Given the description of an element on the screen output the (x, y) to click on. 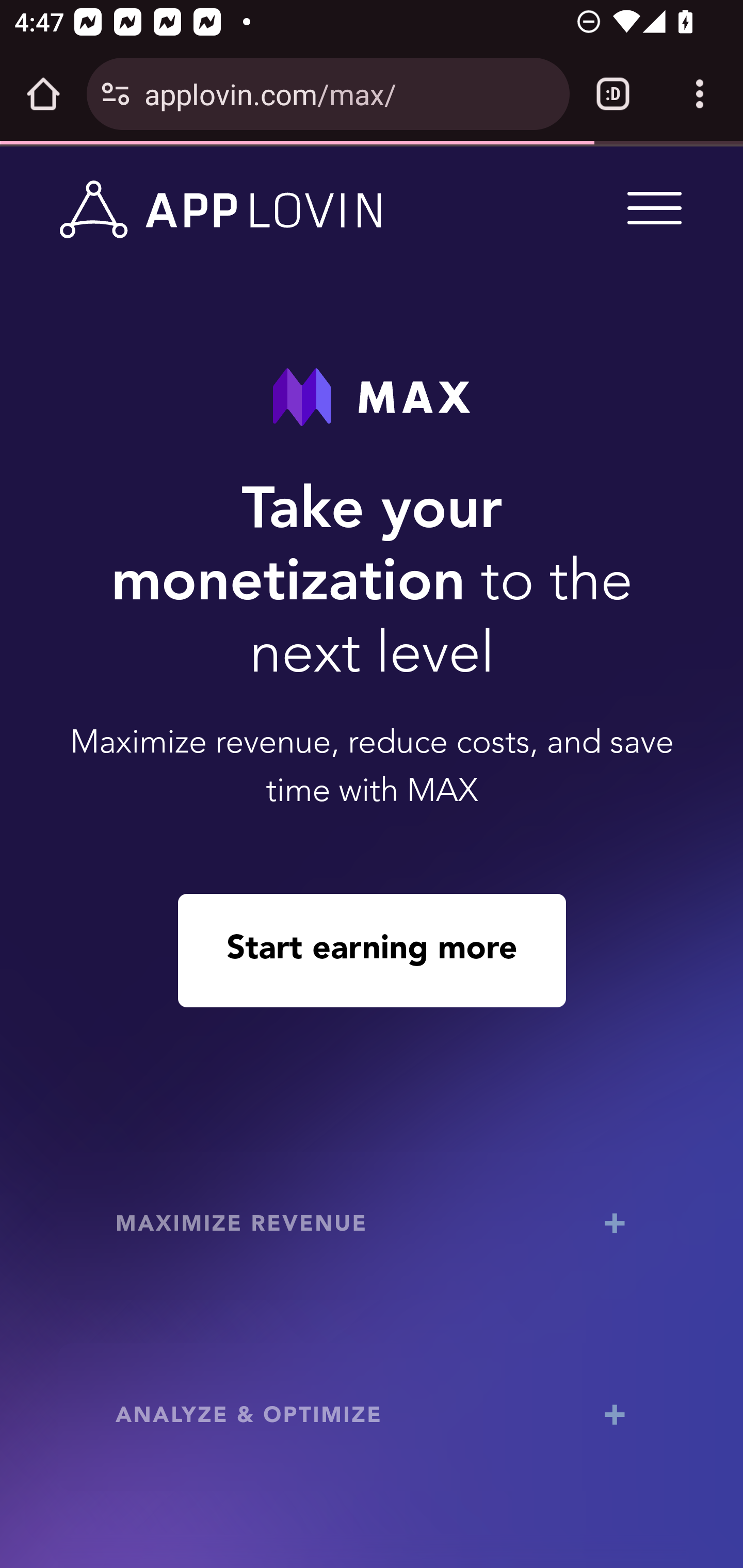
Open the home page (43, 93)
Connection is secure (115, 93)
Switch or close tabs (612, 93)
Customize and control Google Chrome (699, 93)
applovin.com/max/ (349, 92)
Menu Trigger (650, 207)
www.applovin (220, 209)
Start earning more (371, 950)
